Given the description of an element on the screen output the (x, y) to click on. 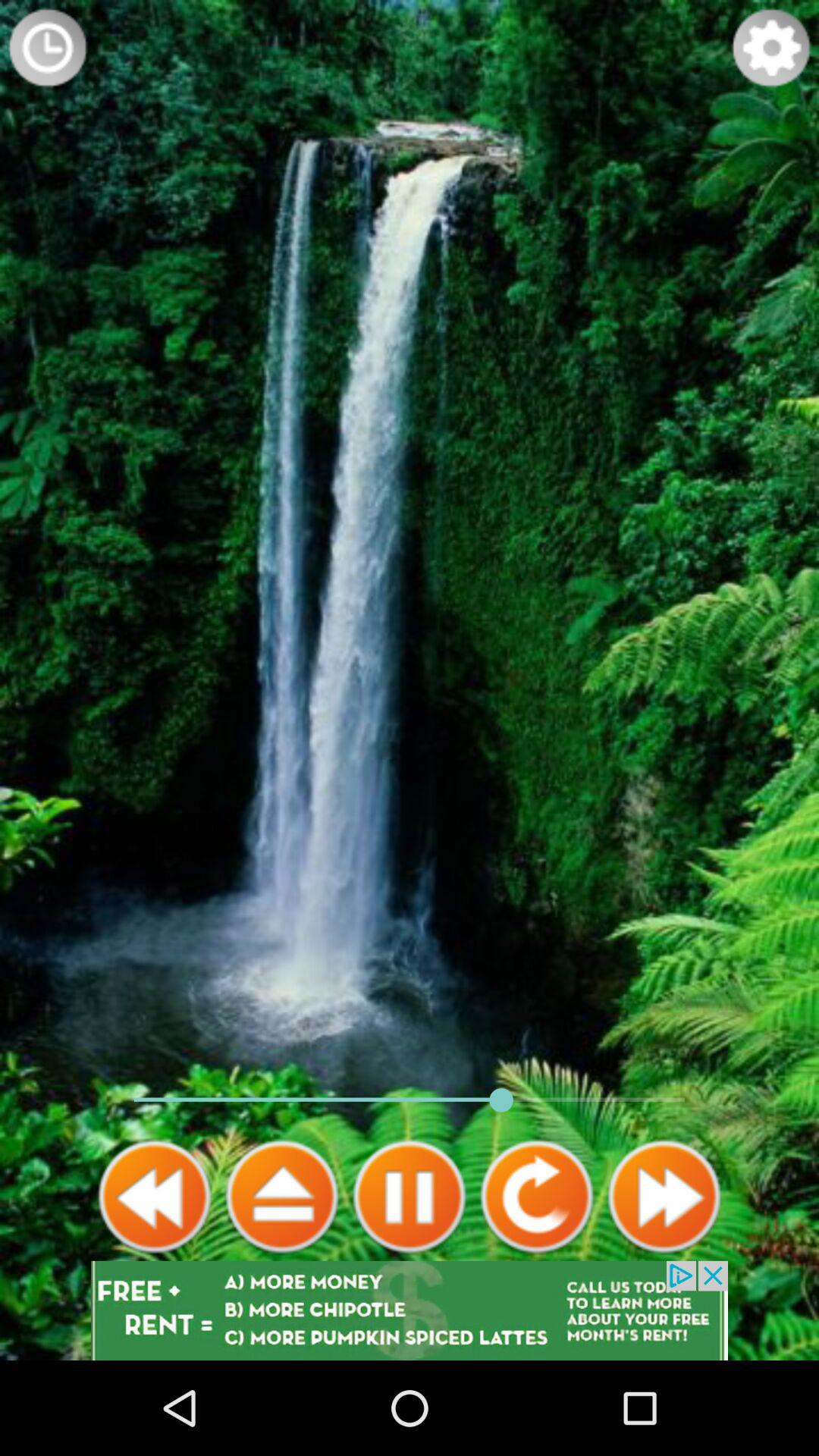
settings (771, 47)
